Given the description of an element on the screen output the (x, y) to click on. 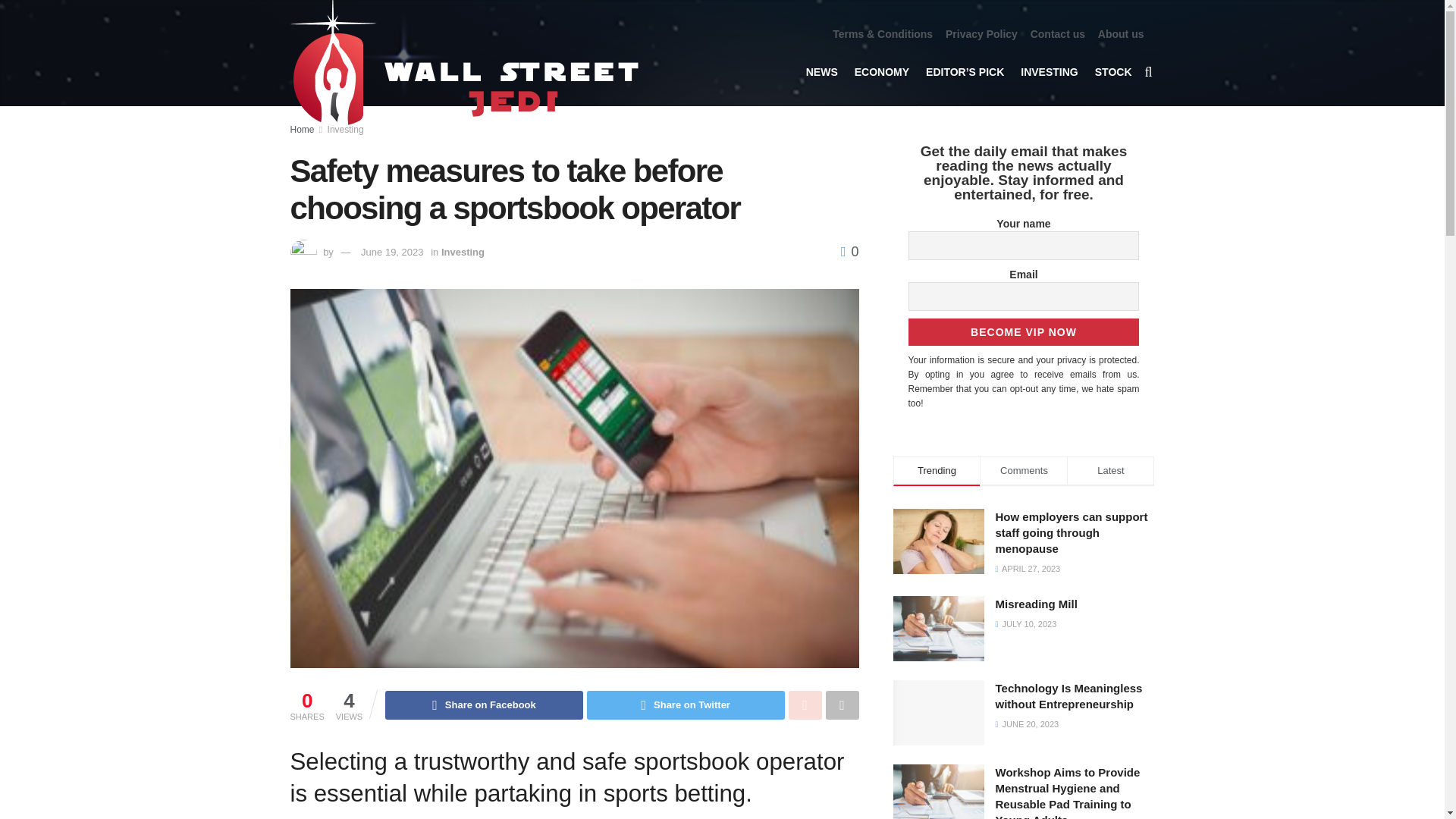
Become VIP Now (1024, 331)
Investing (345, 129)
Share on Facebook (484, 705)
Privacy Policy (980, 34)
STOCK (1113, 71)
0 (850, 251)
Home (301, 129)
June 19, 2023 (392, 251)
Investing (462, 251)
Share on Twitter (685, 705)
INVESTING (1048, 71)
About us (1120, 34)
Contact us (1057, 34)
ECONOMY (881, 71)
